Given the description of an element on the screen output the (x, y) to click on. 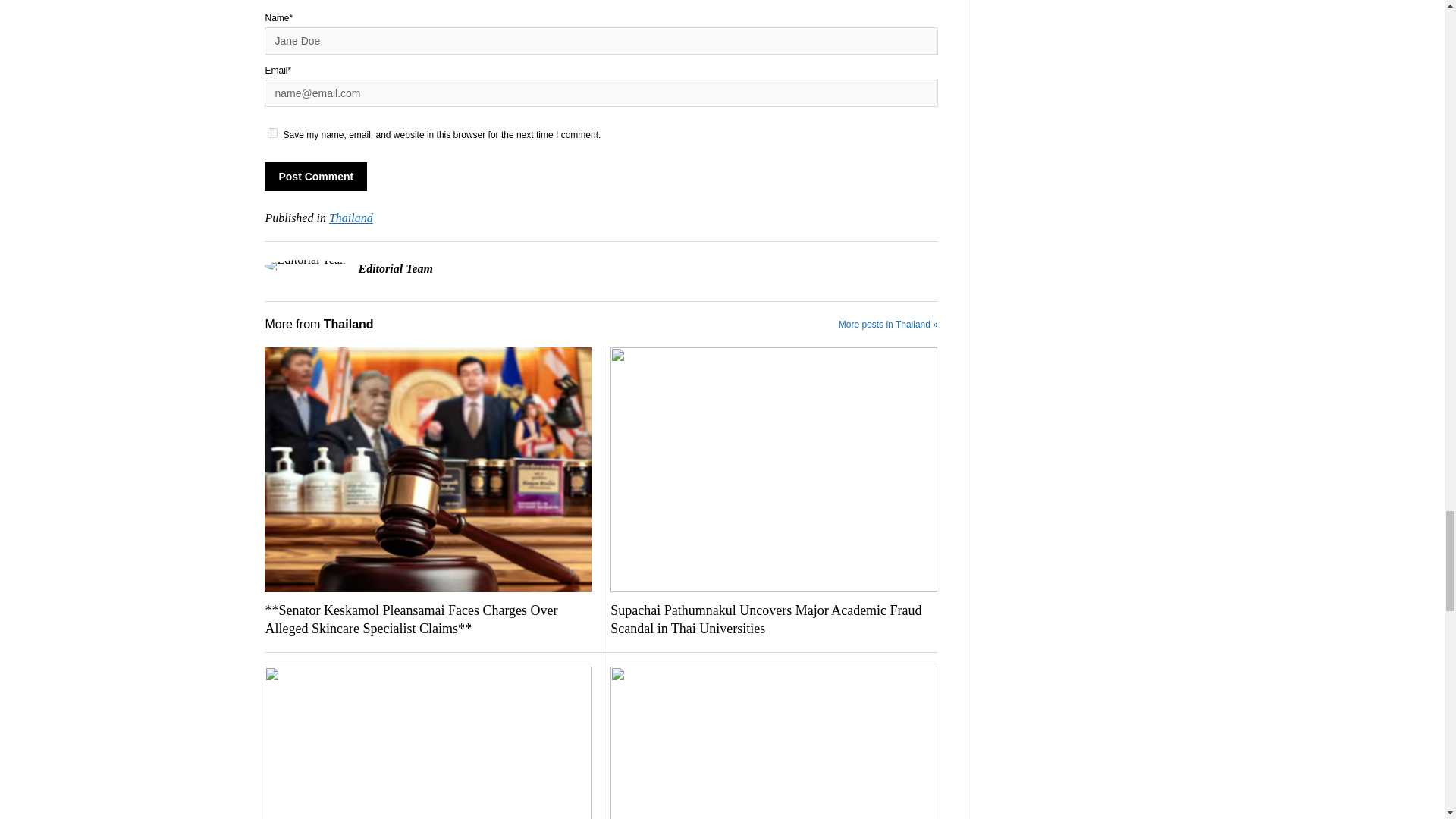
yes (272, 132)
Post Comment (315, 176)
Post Comment (315, 176)
Thailand (350, 217)
View all posts in Thailand (350, 217)
